Given the description of an element on the screen output the (x, y) to click on. 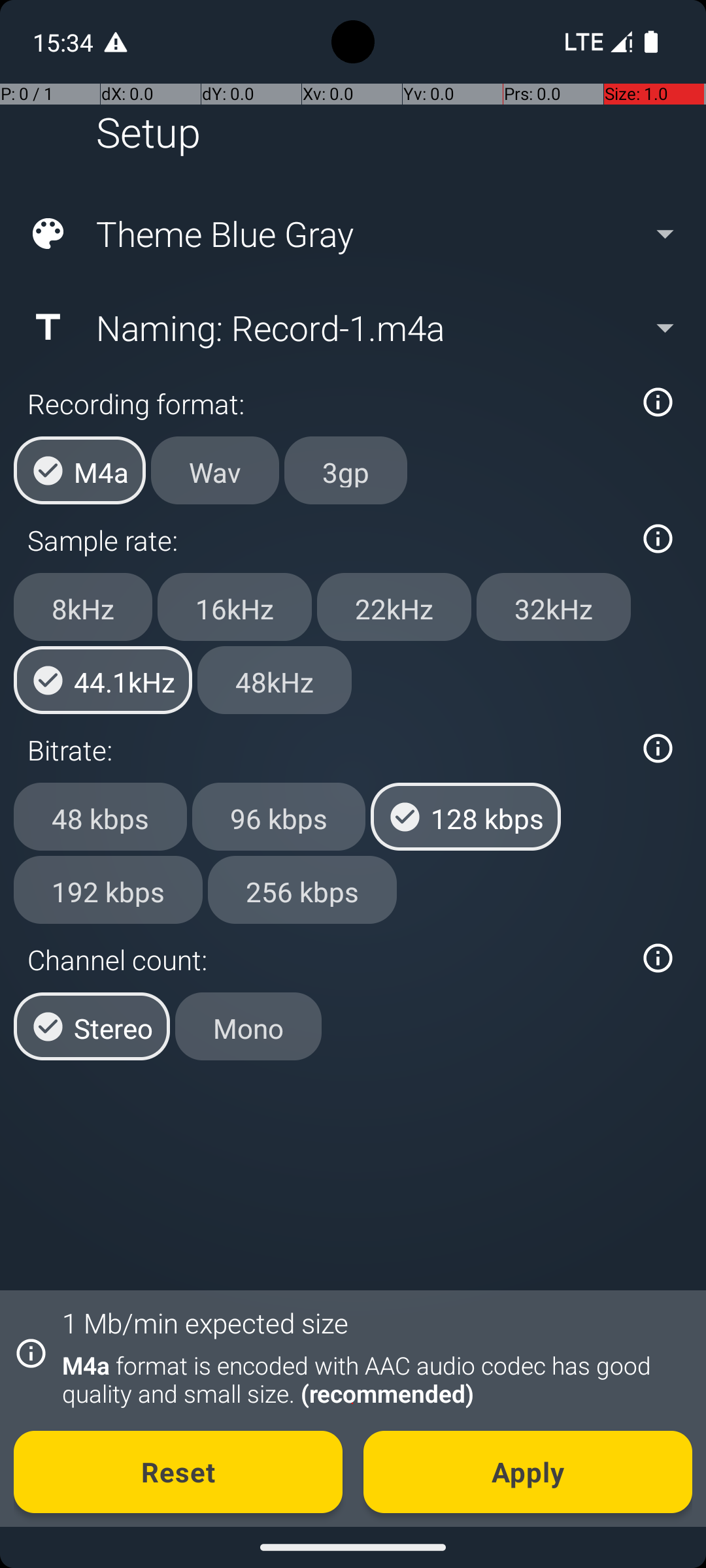
1 Mb/min expected size Element type: android.widget.TextView (205, 1322)
M4a format is encoded with AAC audio codec has good quality and small size. (recommended) Element type: android.widget.TextView (370, 1378)
Reset Element type: android.widget.Button (177, 1471)
Apply Element type: android.widget.Button (527, 1471)
Setup Element type: android.widget.TextView (148, 131)
Recording format: Element type: android.widget.TextView (325, 403)
M4a Element type: android.widget.TextView (79, 470)
Wav Element type: android.widget.TextView (215, 470)
3gp Element type: android.widget.TextView (345, 470)
Sample rate: Element type: android.widget.TextView (325, 539)
44.1kHz Element type: android.widget.TextView (102, 680)
16kHz Element type: android.widget.TextView (234, 606)
22kHz Element type: android.widget.TextView (394, 606)
32kHz Element type: android.widget.TextView (553, 606)
48kHz Element type: android.widget.TextView (274, 680)
8kHz Element type: android.widget.TextView (82, 606)
Bitrate: Element type: android.widget.TextView (325, 749)
128 kbps Element type: android.widget.TextView (465, 816)
192 kbps Element type: android.widget.TextView (107, 889)
256 kbps Element type: android.widget.TextView (301, 889)
48 kbps Element type: android.widget.TextView (99, 816)
96 kbps Element type: android.widget.TextView (278, 816)
Channel count: Element type: android.widget.TextView (325, 959)
Stereo Element type: android.widget.TextView (91, 1026)
Mono Element type: android.widget.TextView (248, 1026)
Theme Blue Gray Element type: android.widget.TextView (352, 233)
Naming: Record-1.m4a Element type: android.widget.TextView (352, 327)
15:34 Element type: android.widget.TextView (64, 41)
Android System notification: Data warning Element type: android.widget.ImageView (115, 41)
Phone three bars. Element type: android.widget.FrameLayout (595, 41)
Battery 100 percent. Element type: android.widget.LinearLayout (650, 41)
No internet Element type: android.widget.ImageView (582, 41)
